Given the description of an element on the screen output the (x, y) to click on. 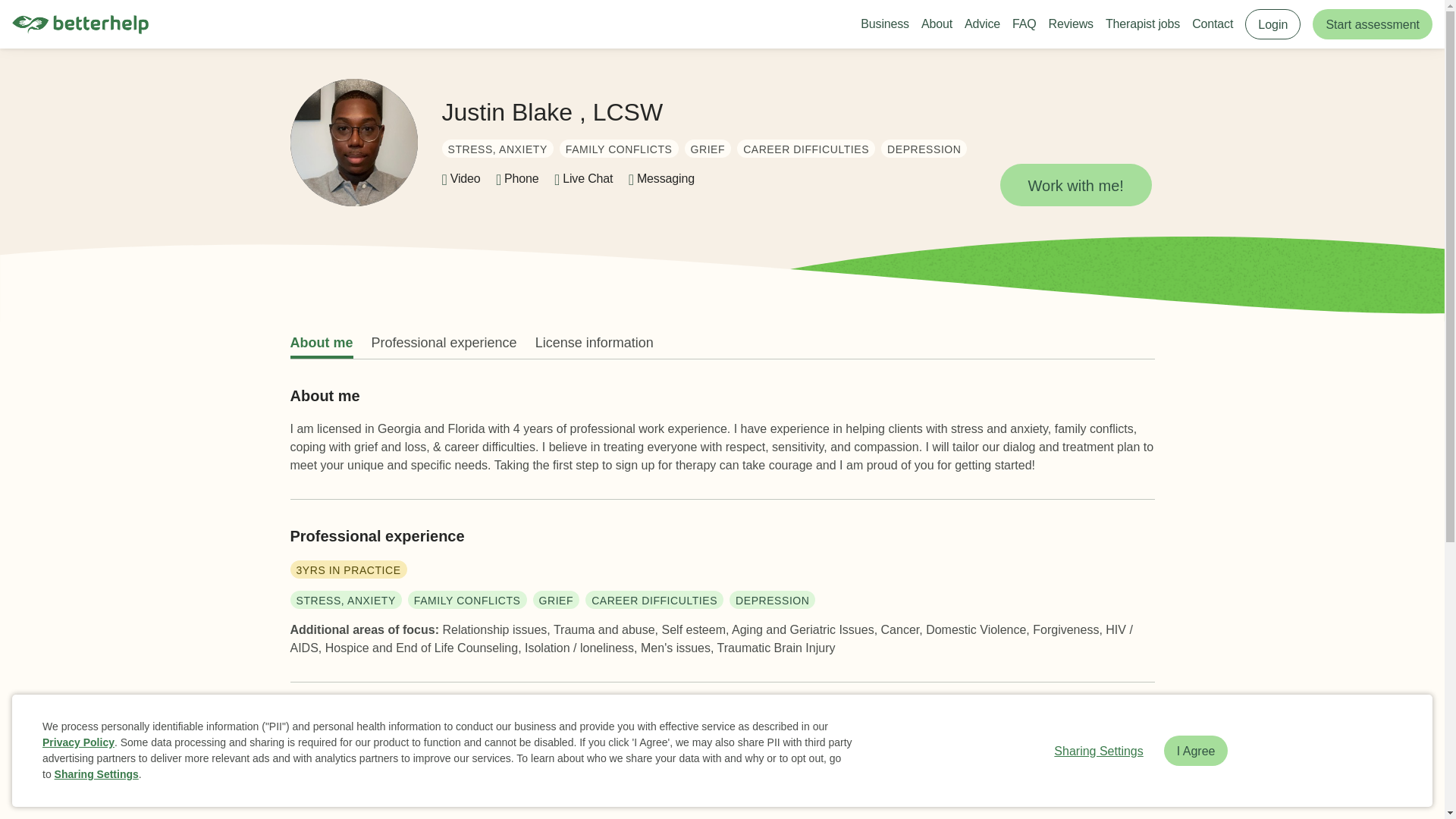
Sharing Settings (1098, 750)
Reviews (1070, 24)
Privacy Policy (78, 742)
Work with me! (1074, 184)
Therapist jobs (1142, 24)
License information (594, 342)
Login (1272, 24)
Start assessment (1372, 24)
Sharing Settings (96, 774)
Professional experience (443, 342)
I Agree (1195, 750)
Business (884, 24)
About me (320, 342)
